Given the description of an element on the screen output the (x, y) to click on. 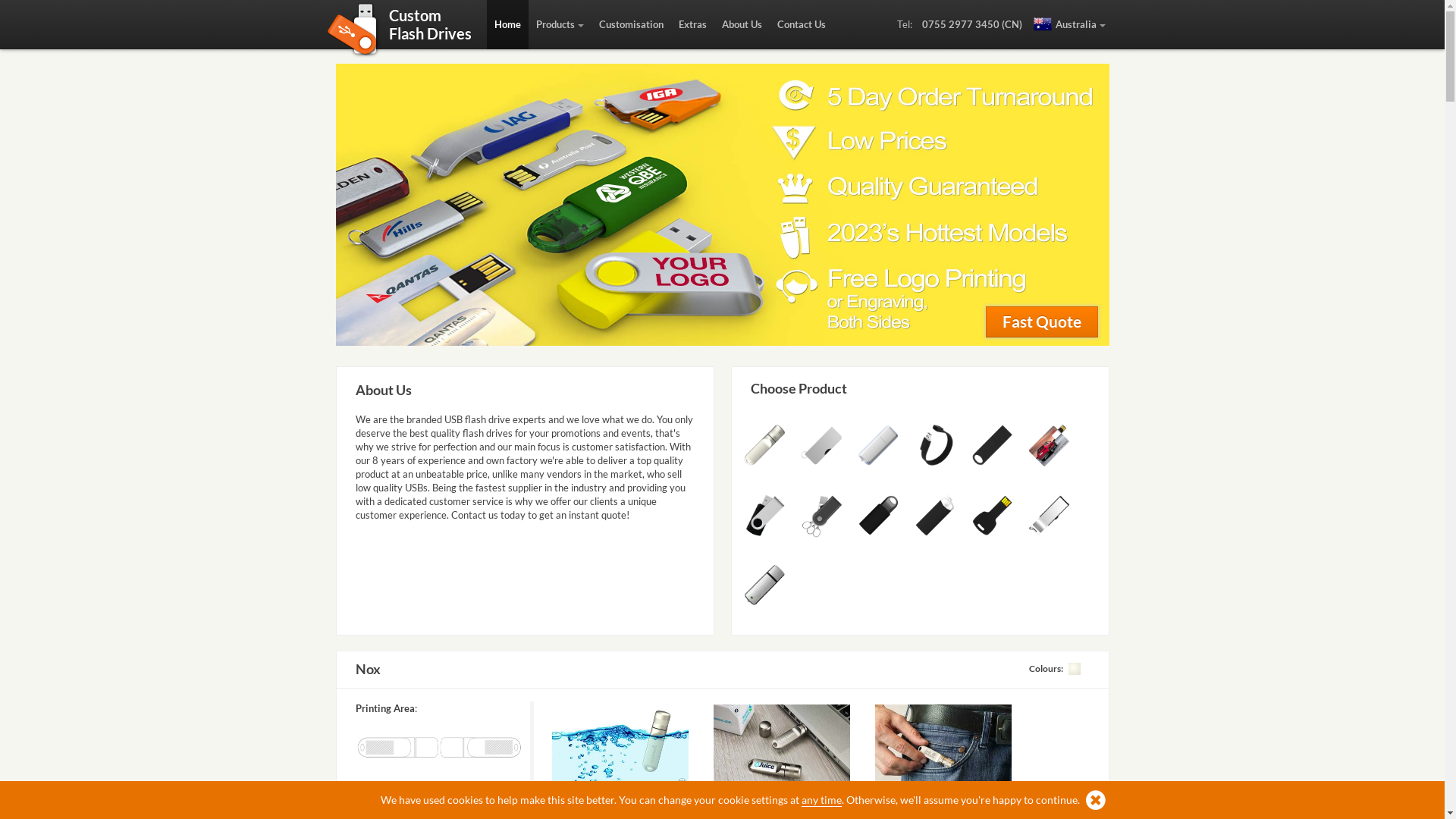
Extras Element type: text (691, 24)
Contact Us Element type: text (800, 24)
Australia Element type: text (1069, 24)
About Us Element type: text (741, 24)
Customisation Element type: text (631, 24)
any time Element type: text (821, 799)
Products Element type: text (558, 24)
0755 2977 3450 (CN) Element type: text (971, 24)
Fast Quote Element type: text (1041, 321)
Home Element type: text (507, 24)
Custom
Flash Drives Element type: text (429, 32)
